Given the description of an element on the screen output the (x, y) to click on. 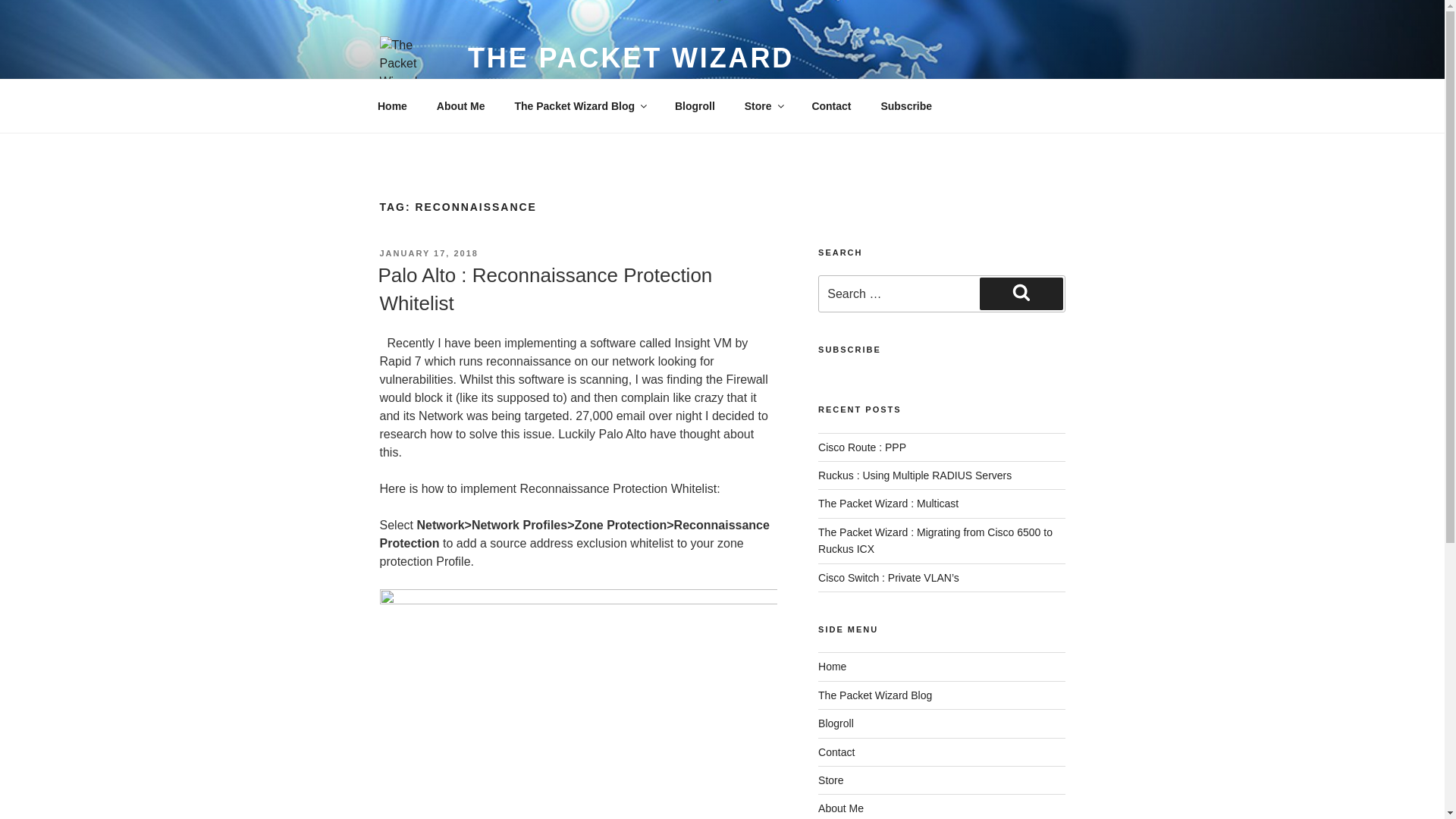
About Me (460, 106)
THE PACKET WIZARD (630, 57)
Home (392, 106)
The Packet Wizard Blog (579, 106)
